Given the description of an element on the screen output the (x, y) to click on. 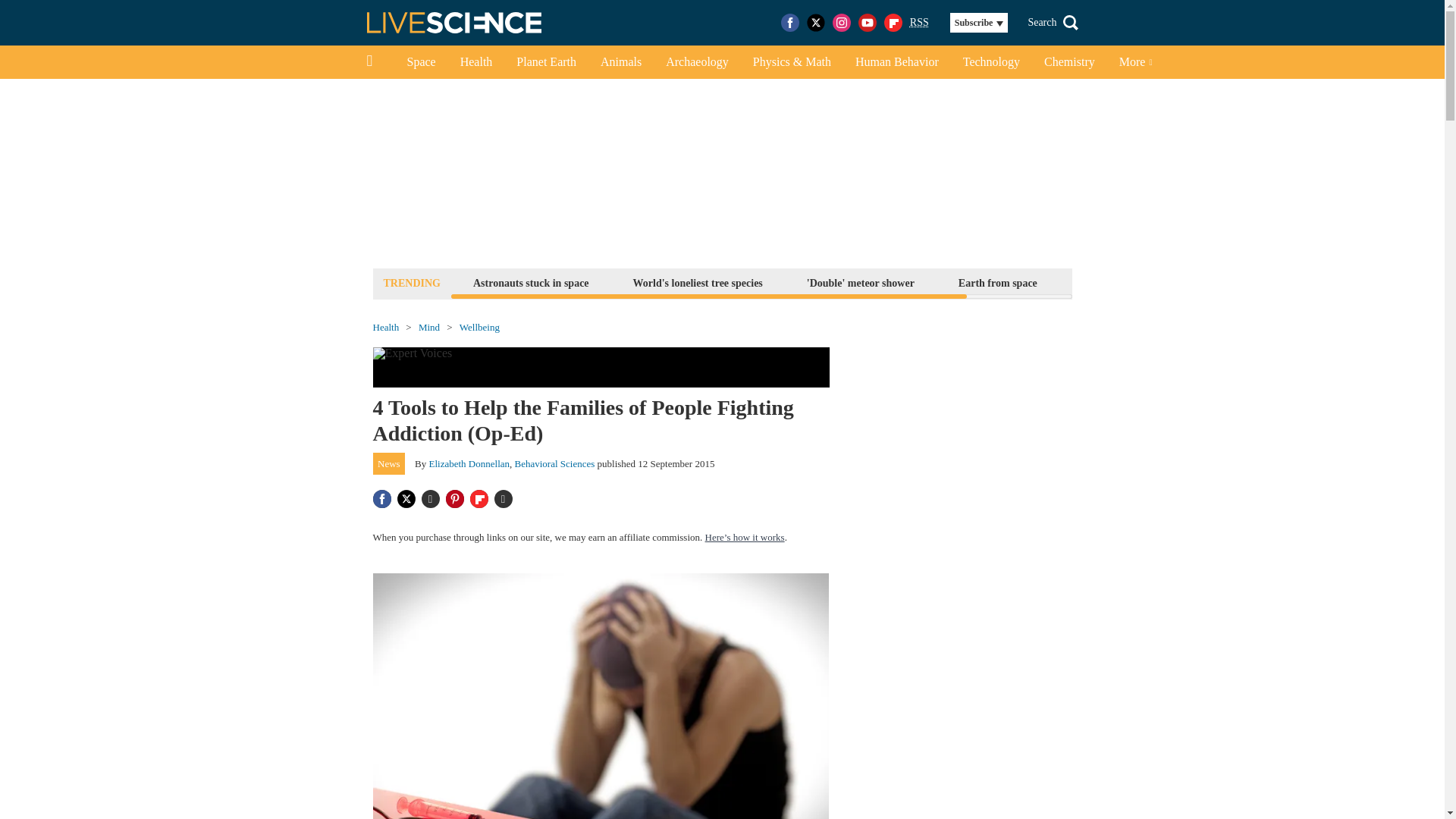
Human Behavior (896, 61)
News (389, 463)
Earth from space (997, 282)
Animals (620, 61)
Wellbeing (479, 327)
Delta Aquariids 2024 (1128, 282)
Astronauts stuck in space (530, 282)
World's loneliest tree species (697, 282)
Planet Earth (545, 61)
Behavioral Sciences (555, 463)
Elizabeth Donnellan (470, 463)
Health (476, 61)
'Double' meteor shower (861, 282)
Chemistry (1069, 61)
Archaeology (697, 61)
